Given the description of an element on the screen output the (x, y) to click on. 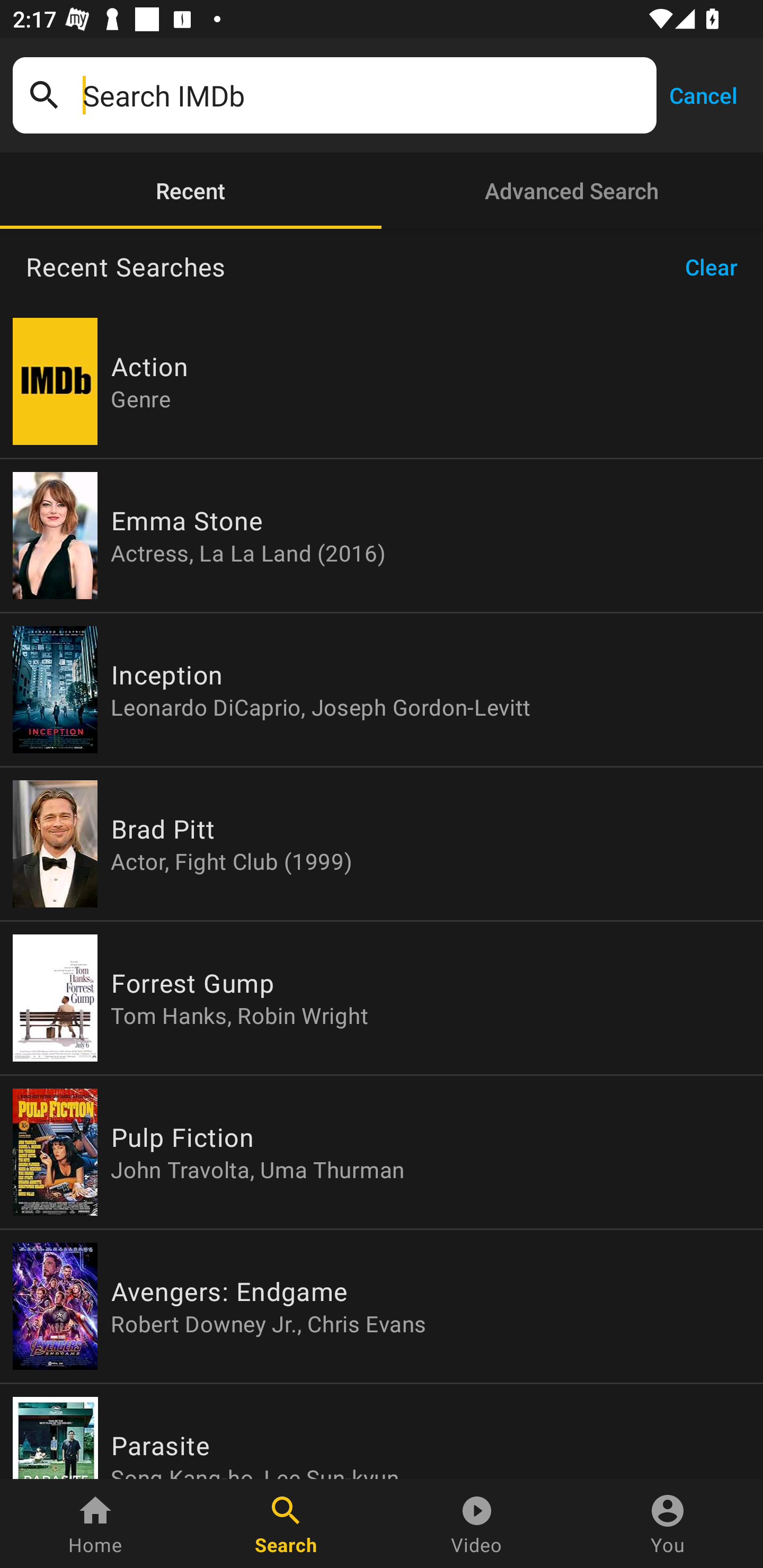
Cancel (703, 94)
Search IMDb (363, 95)
Advanced Search (572, 190)
Clear (717, 266)
Action Genre (381, 381)
Emma Stone Actress, La La Land (2016) (381, 535)
Inception Leonardo DiCaprio, Joseph Gordon-Levitt (381, 689)
Brad Pitt Actor, Fight Club (1999) (381, 844)
Forrest Gump Tom Hanks, Robin Wright (381, 997)
Pulp Fiction John Travolta, Uma Thurman (381, 1151)
Avengers: Endgame Robert Downey Jr., Chris Evans (381, 1305)
Parasite Song Kang-ho, Lee Sun-kyun (381, 1431)
Home (95, 1523)
Video (476, 1523)
You (667, 1523)
